Given the description of an element on the screen output the (x, y) to click on. 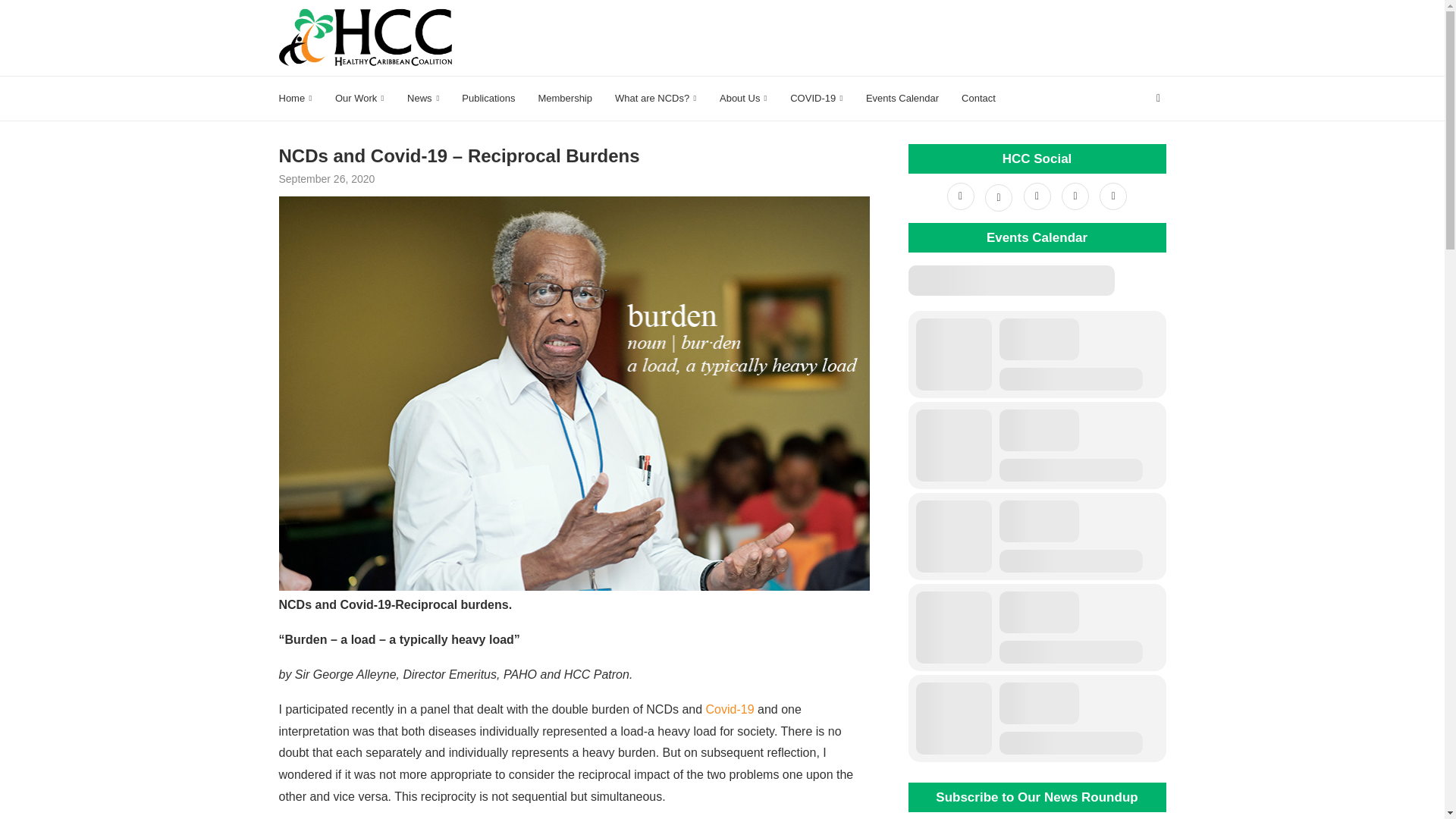
Publications (488, 98)
Our Work (359, 98)
Membership (564, 98)
What are NCDs? (655, 98)
